Given the description of an element on the screen output the (x, y) to click on. 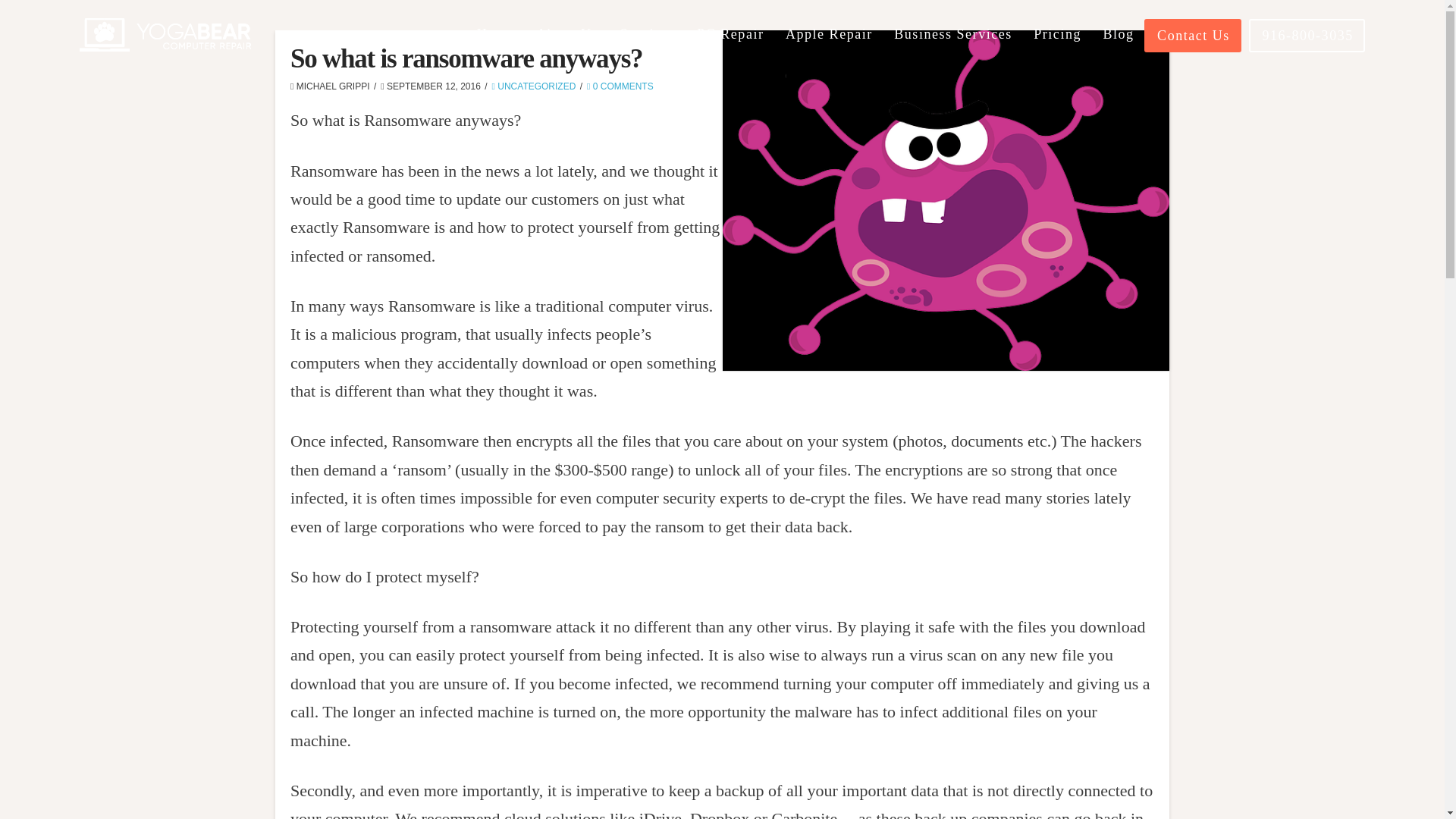
Apple Repair (828, 52)
0 COMMENTS (619, 86)
PC Repair (729, 52)
916-800-3035 (1307, 35)
UNCATEGORIZED (534, 86)
About Us (566, 52)
Contact Us (1192, 35)
Pricing (1056, 52)
Services (646, 52)
Business Services (952, 52)
